Given the description of an element on the screen output the (x, y) to click on. 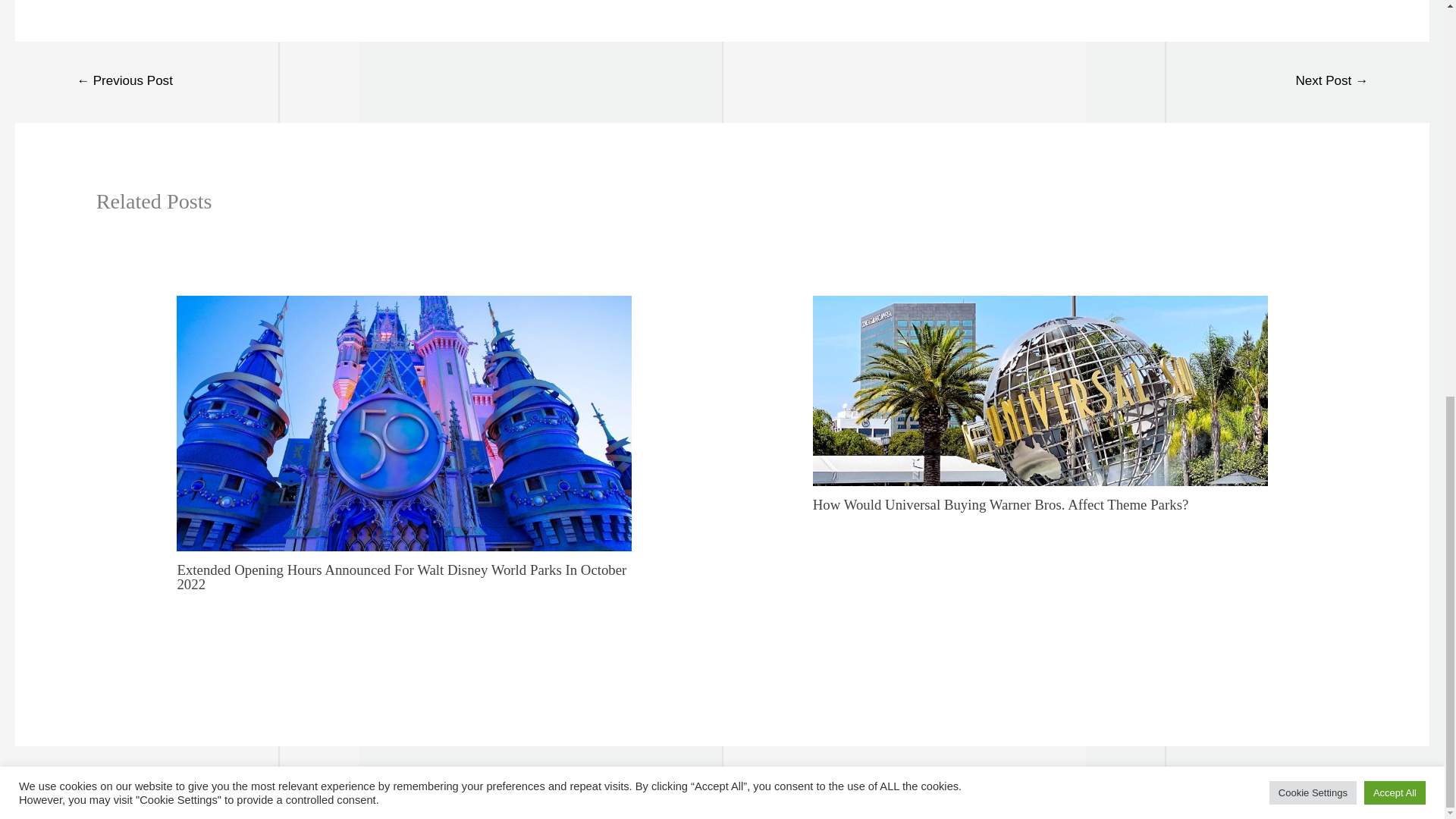
Accept All (1394, 25)
How Would Universal Buying Warner Bros. Affect Theme Parks? (1000, 504)
Cookie Settings (1312, 25)
